Given the description of an element on the screen output the (x, y) to click on. 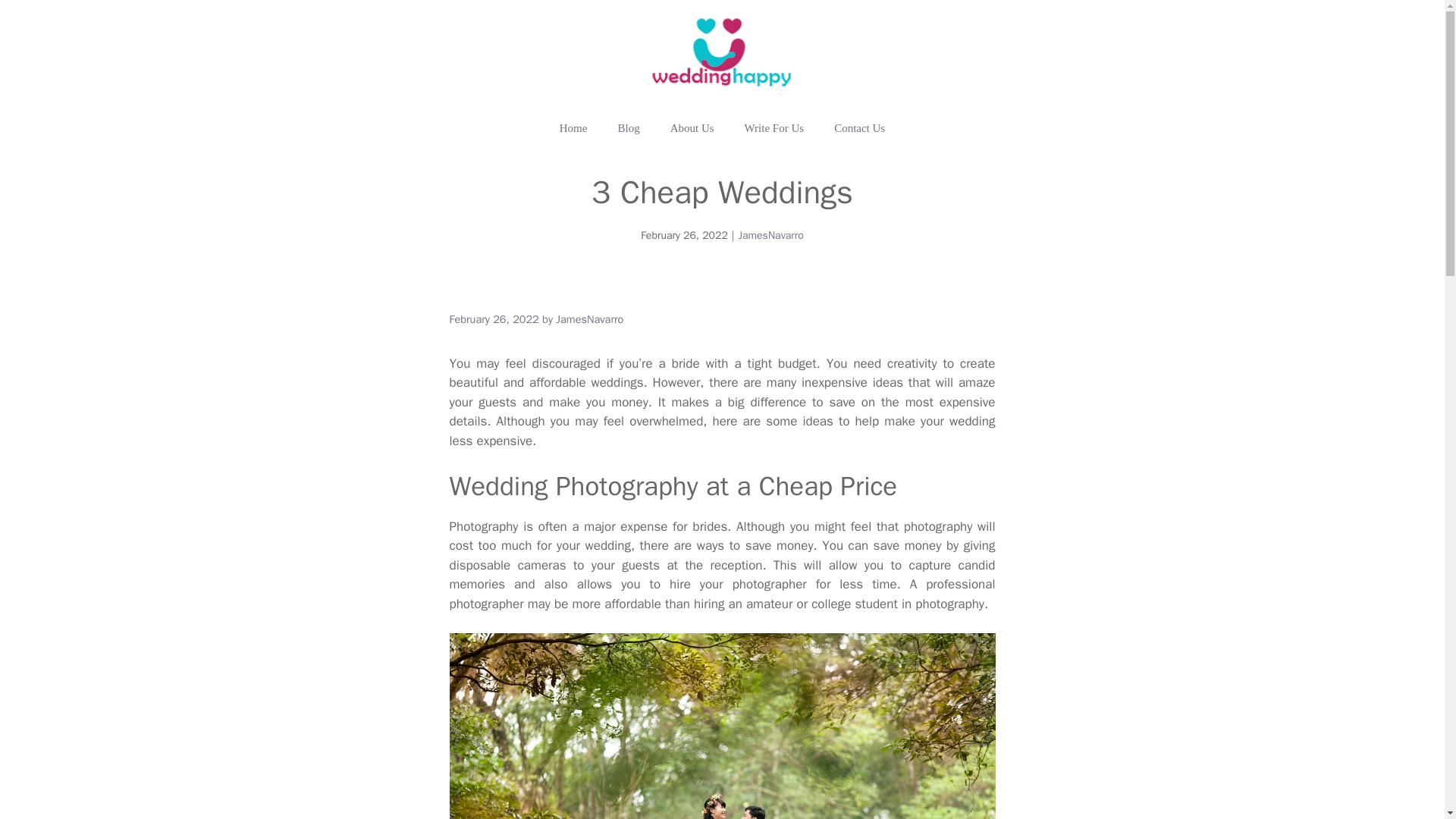
Write For Us (774, 127)
JamesNavarro (770, 235)
Home (573, 127)
About Us (692, 127)
Blog (627, 127)
View all posts by JamesNavarro (589, 318)
Contact Us (858, 127)
JamesNavarro (589, 318)
